Given the description of an element on the screen output the (x, y) to click on. 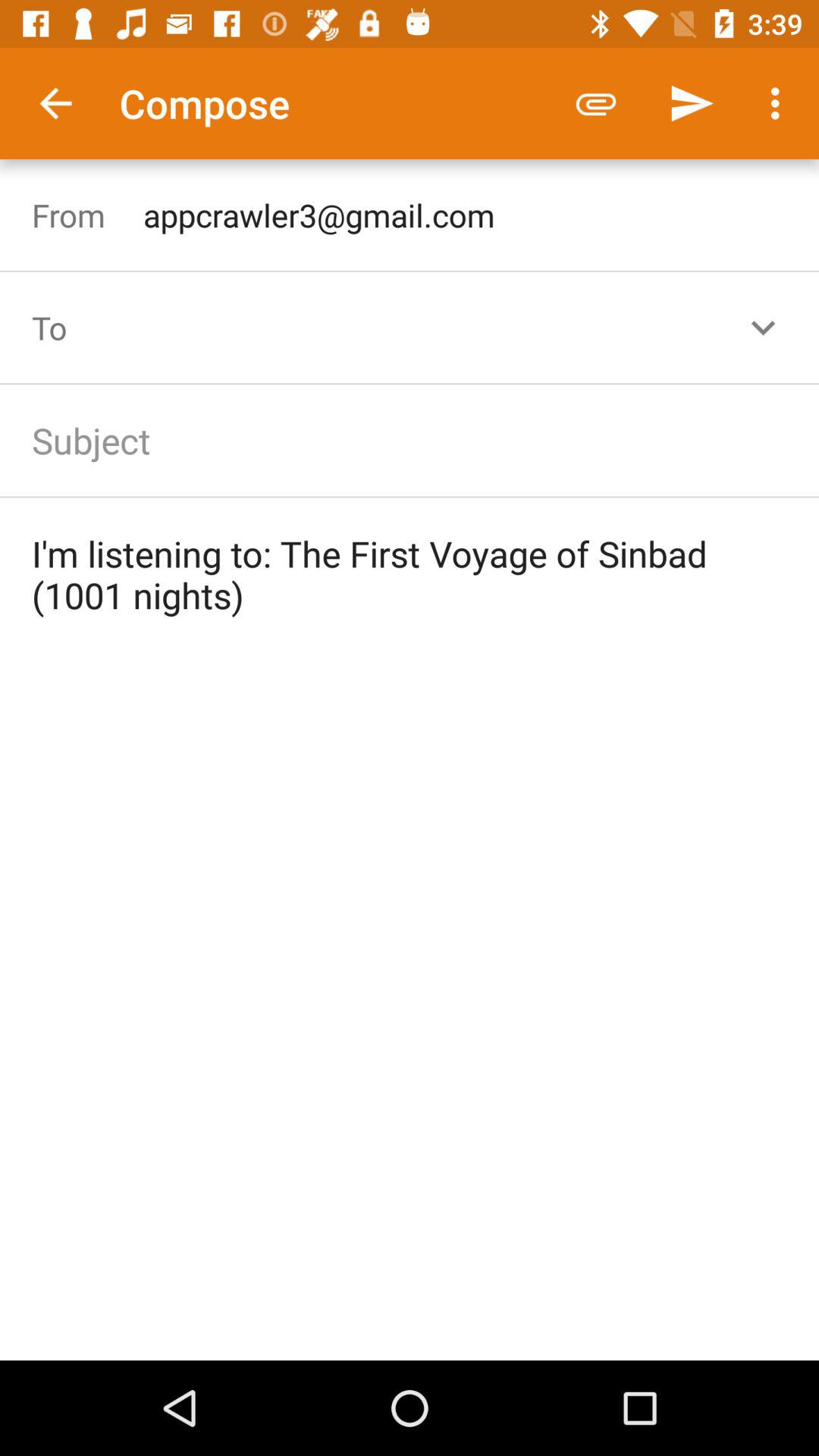
press the icon to the left of the compose (55, 103)
